Given the description of an element on the screen output the (x, y) to click on. 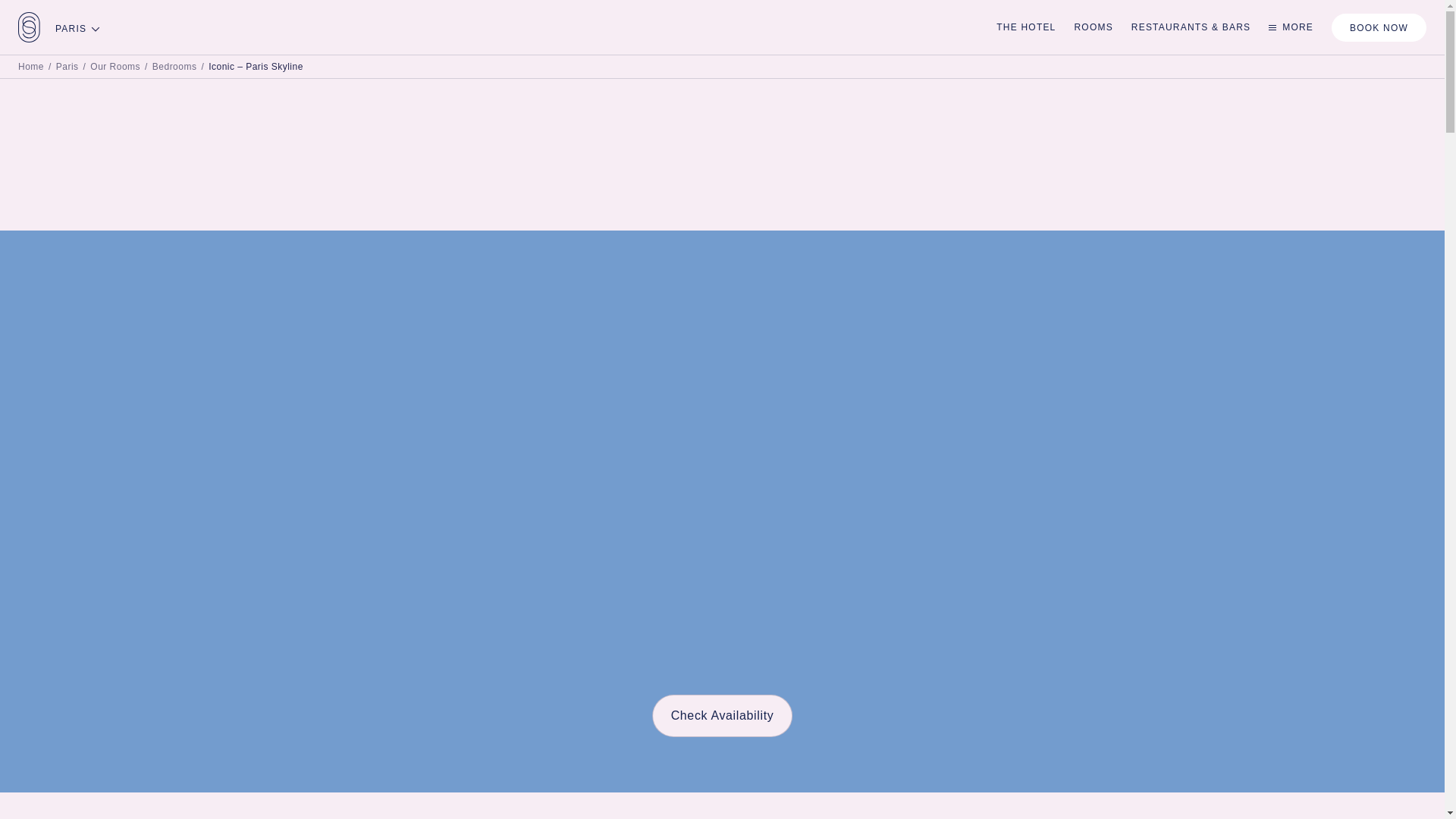
ROOMS (1093, 27)
BOOK NOW (1378, 27)
MORE (1290, 27)
THE HOTEL (1025, 27)
